Given the description of an element on the screen output the (x, y) to click on. 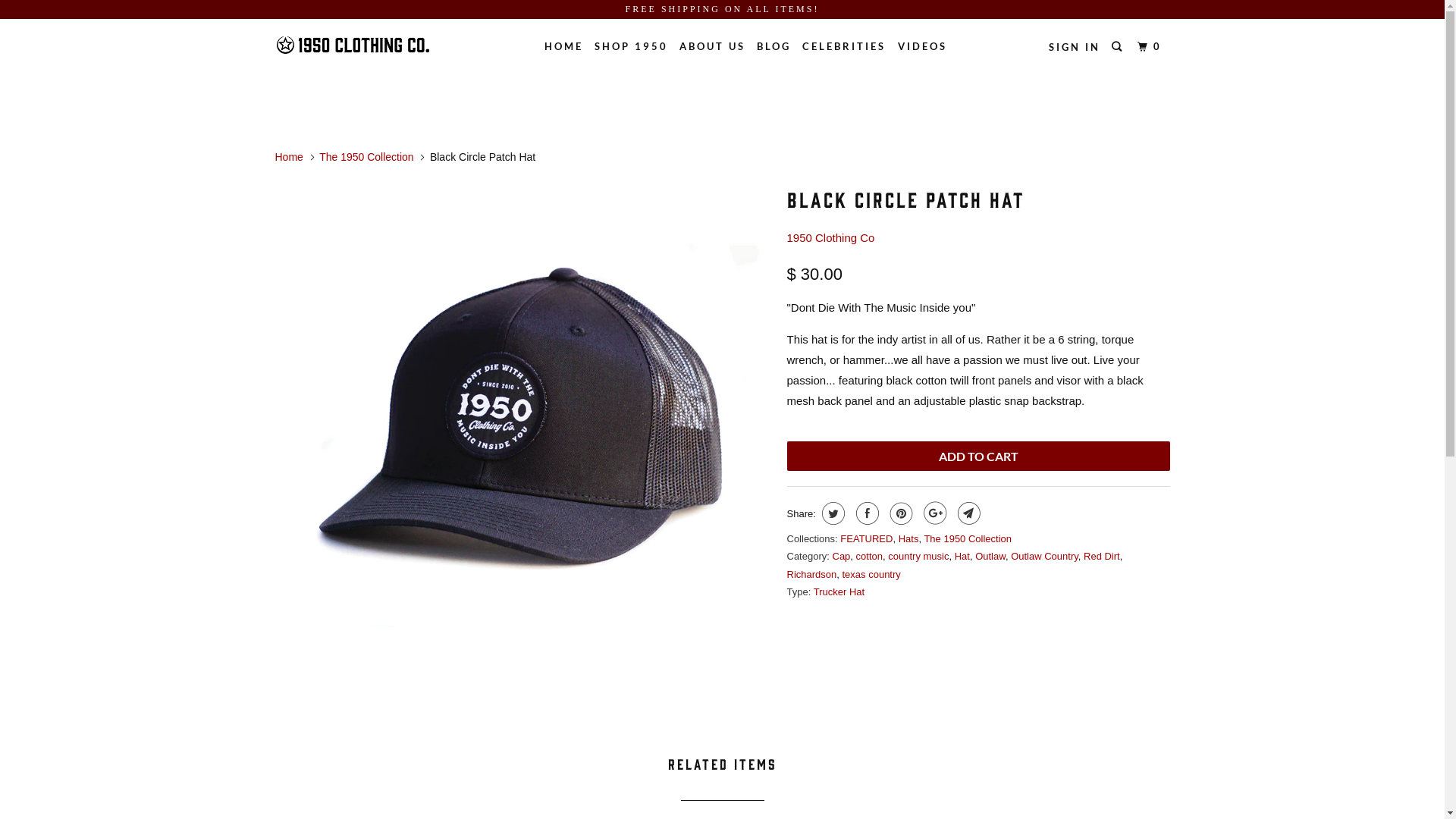
Outlaw Country Element type: text (1044, 555)
SIGN IN Element type: text (1074, 46)
Trucker Hat Element type: text (838, 591)
HOME Element type: text (563, 46)
0 Element type: text (1150, 46)
ABOUT US Element type: text (712, 46)
The 1950 Collection Element type: text (366, 156)
Hat Element type: text (961, 555)
texas country Element type: text (870, 574)
Cap Element type: text (841, 555)
Home Element type: text (288, 156)
Share this on Google+ Element type: hover (932, 513)
SHOP 1950 Element type: text (631, 46)
1950 Clothing Co Element type: text (831, 237)
1950 Clothing Co Element type: hover (351, 45)
Email this to a friend Element type: hover (966, 513)
Richardson Element type: text (812, 574)
cotton Element type: text (869, 555)
VIDEOS Element type: text (922, 46)
Share this on Pinterest Element type: hover (899, 513)
FEATURED Element type: text (866, 538)
Black Circle Patch Hat Element type: hover (522, 426)
BLOG Element type: text (773, 46)
country music Element type: text (918, 555)
Share this on Facebook Element type: hover (865, 513)
Red Dirt Element type: text (1101, 555)
Outlaw Element type: text (990, 555)
CELEBRITIES Element type: text (843, 46)
ADD TO CART Element type: text (978, 455)
The 1950 Collection Element type: text (967, 538)
Share this on Twitter Element type: hover (831, 513)
Hats Element type: text (908, 538)
Search Element type: hover (1118, 46)
